Given the description of an element on the screen output the (x, y) to click on. 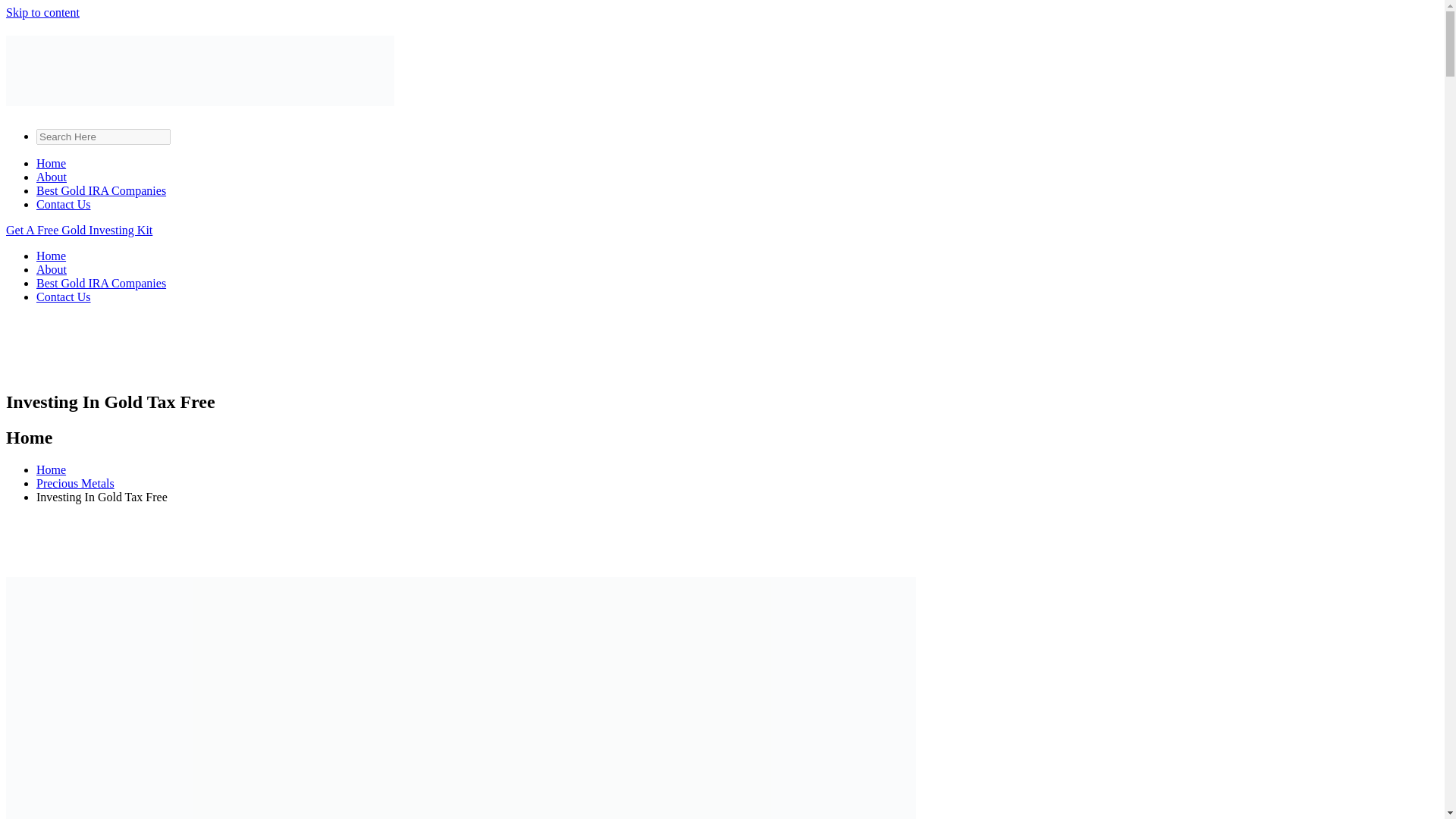
Skip to content (42, 11)
About (51, 269)
Home (50, 469)
Best Gold IRA Companies (100, 282)
Get A Free Gold Investing Kit (78, 229)
Best Gold IRA Companies (100, 190)
Home (50, 163)
Home (50, 255)
Contact Us (63, 204)
Contact Us (63, 296)
About (51, 176)
Precious Metals (75, 482)
